Given the description of an element on the screen output the (x, y) to click on. 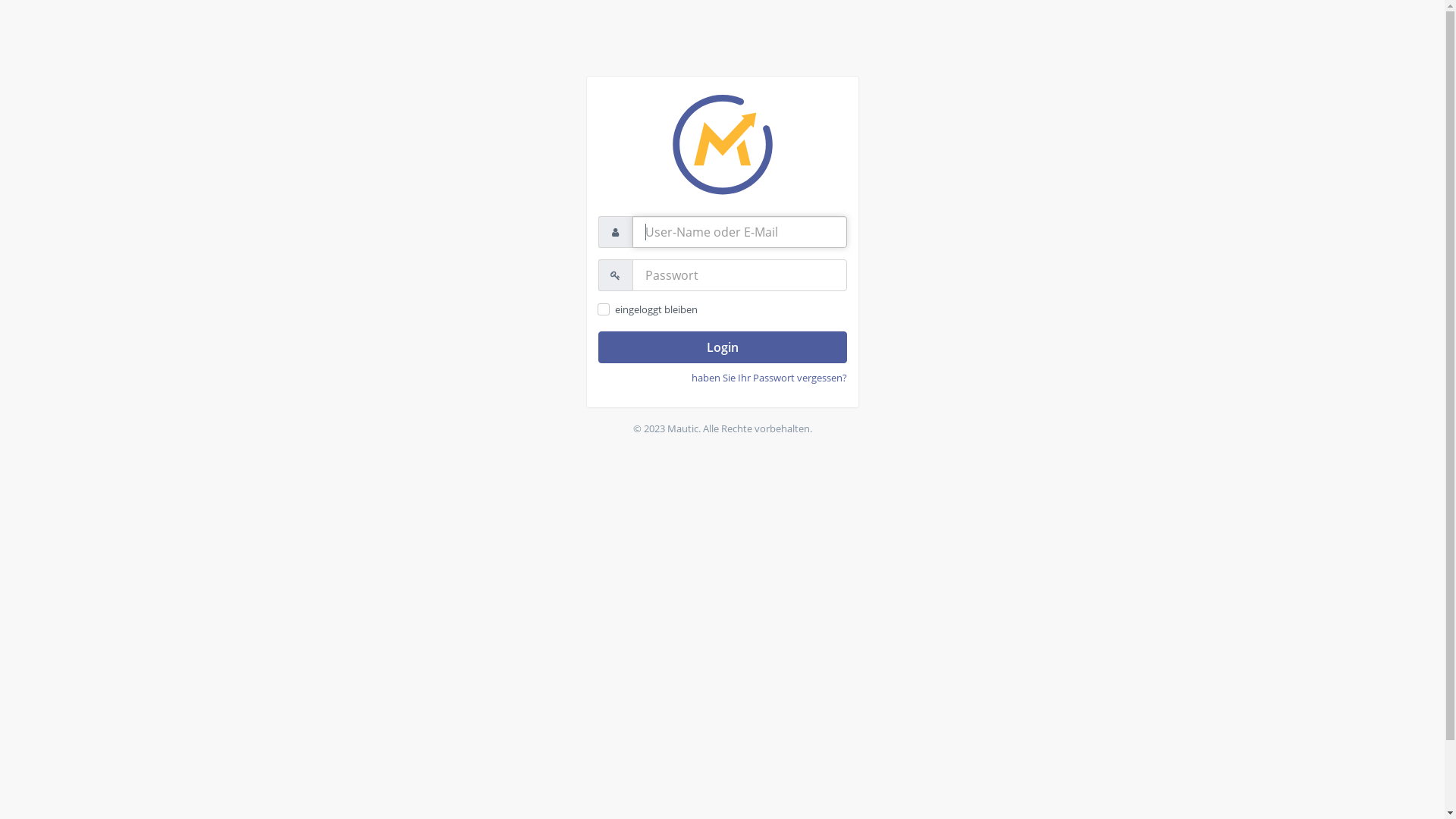
haben Sie Ihr Passwort vergessen? Element type: text (769, 377)
Login Element type: text (721, 347)
